Given the description of an element on the screen output the (x, y) to click on. 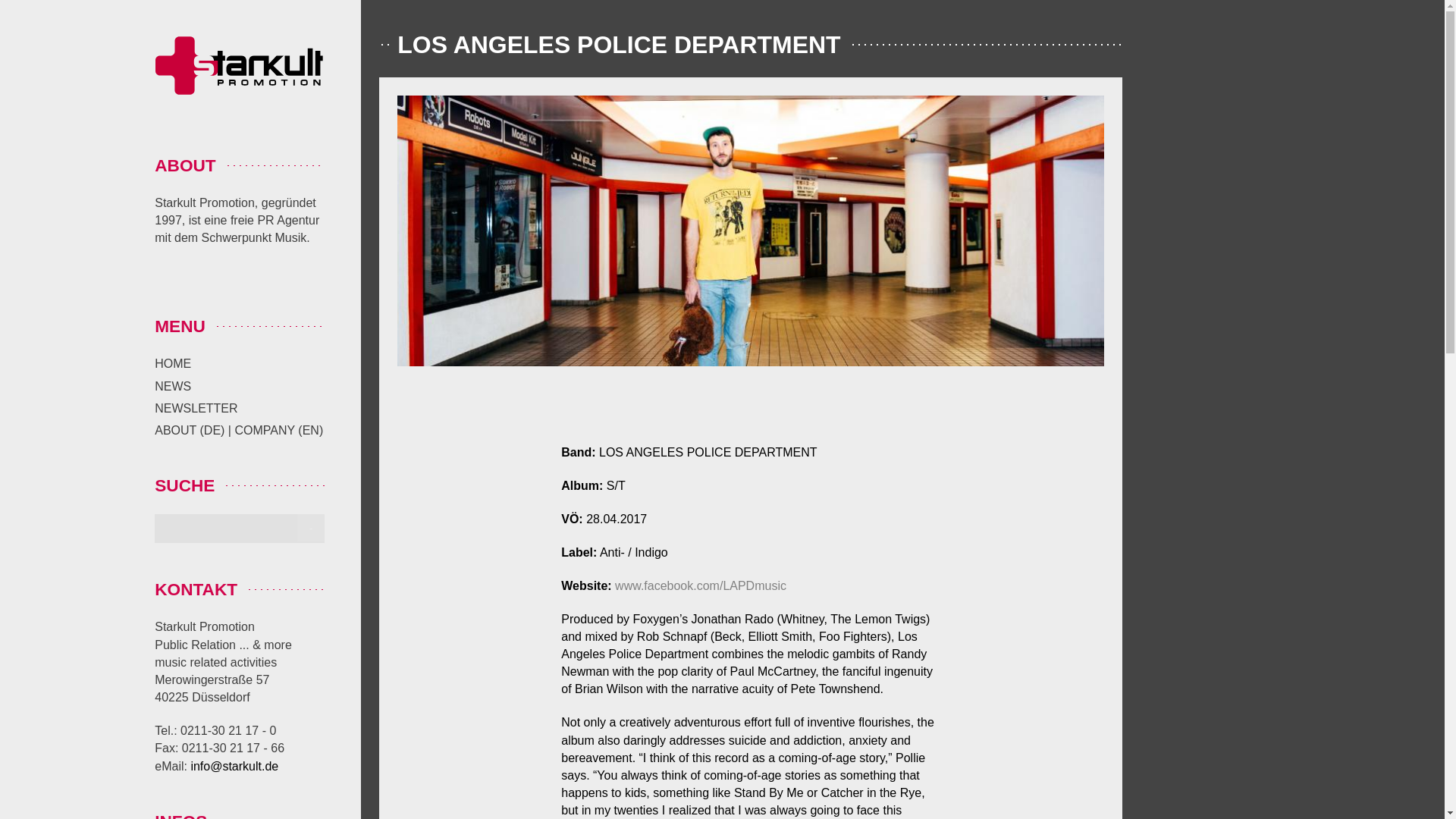
Search (310, 527)
Enter the terms you wish to search for. (239, 528)
Home (239, 68)
NEWS (172, 386)
Search (310, 527)
NEWSLETTER (195, 408)
HOME (172, 363)
